Given the description of an element on the screen output the (x, y) to click on. 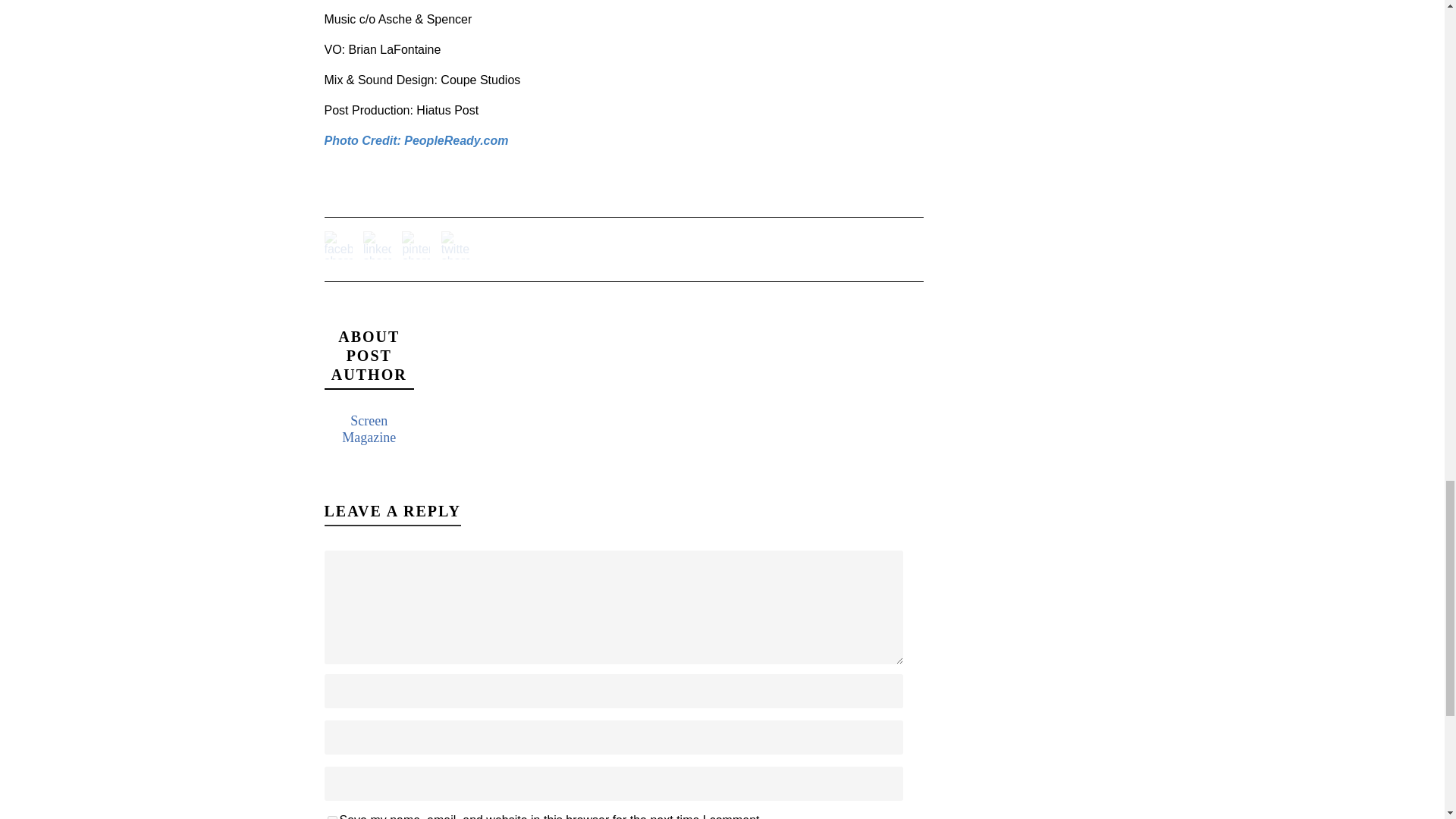
Photo Credit: PeopleReady.com (416, 140)
Posts by Screen Magazine (369, 429)
yes (332, 817)
